Given the description of an element on the screen output the (x, y) to click on. 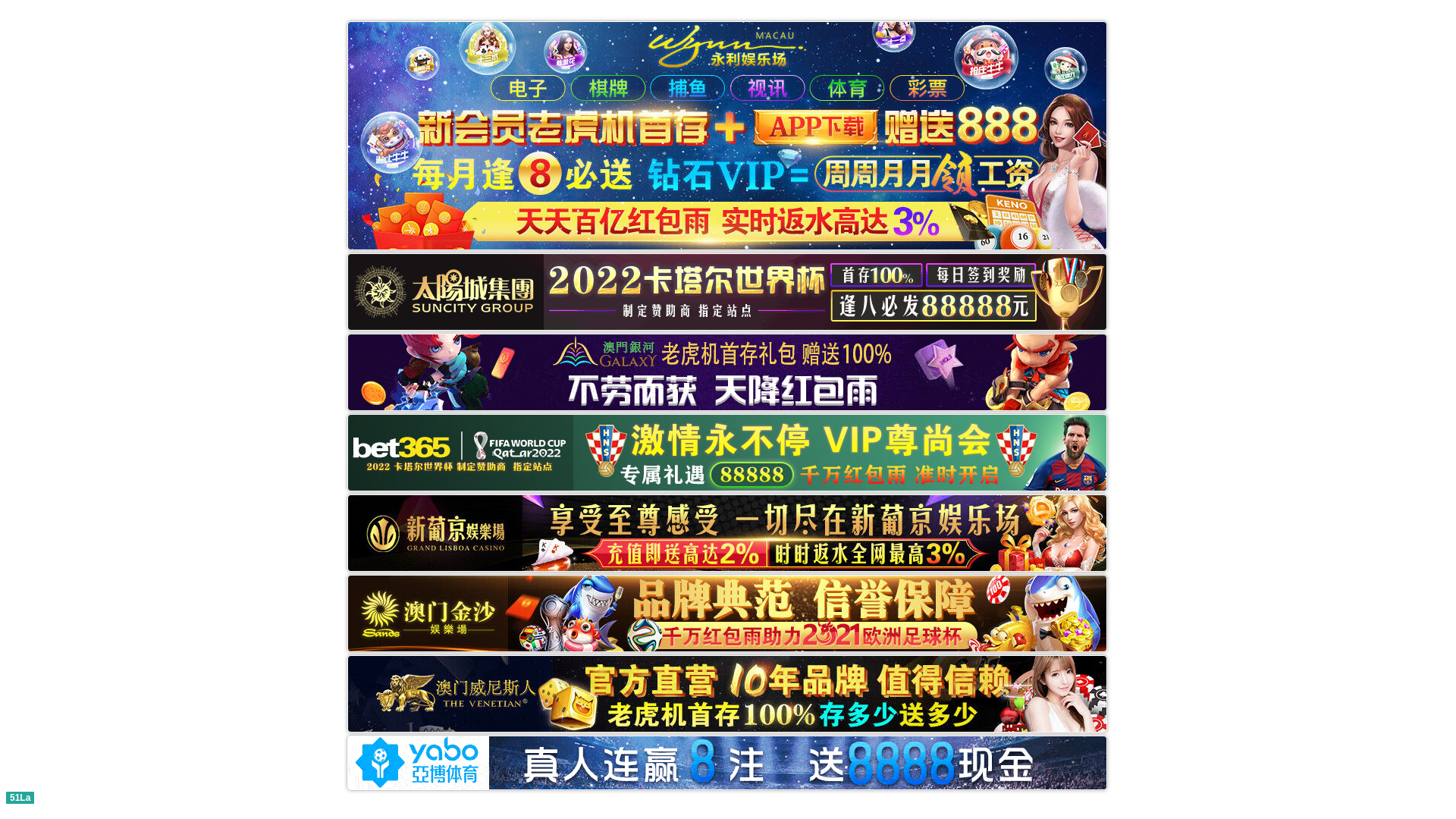
51La Element type: text (20, 796)
